Given the description of an element on the screen output the (x, y) to click on. 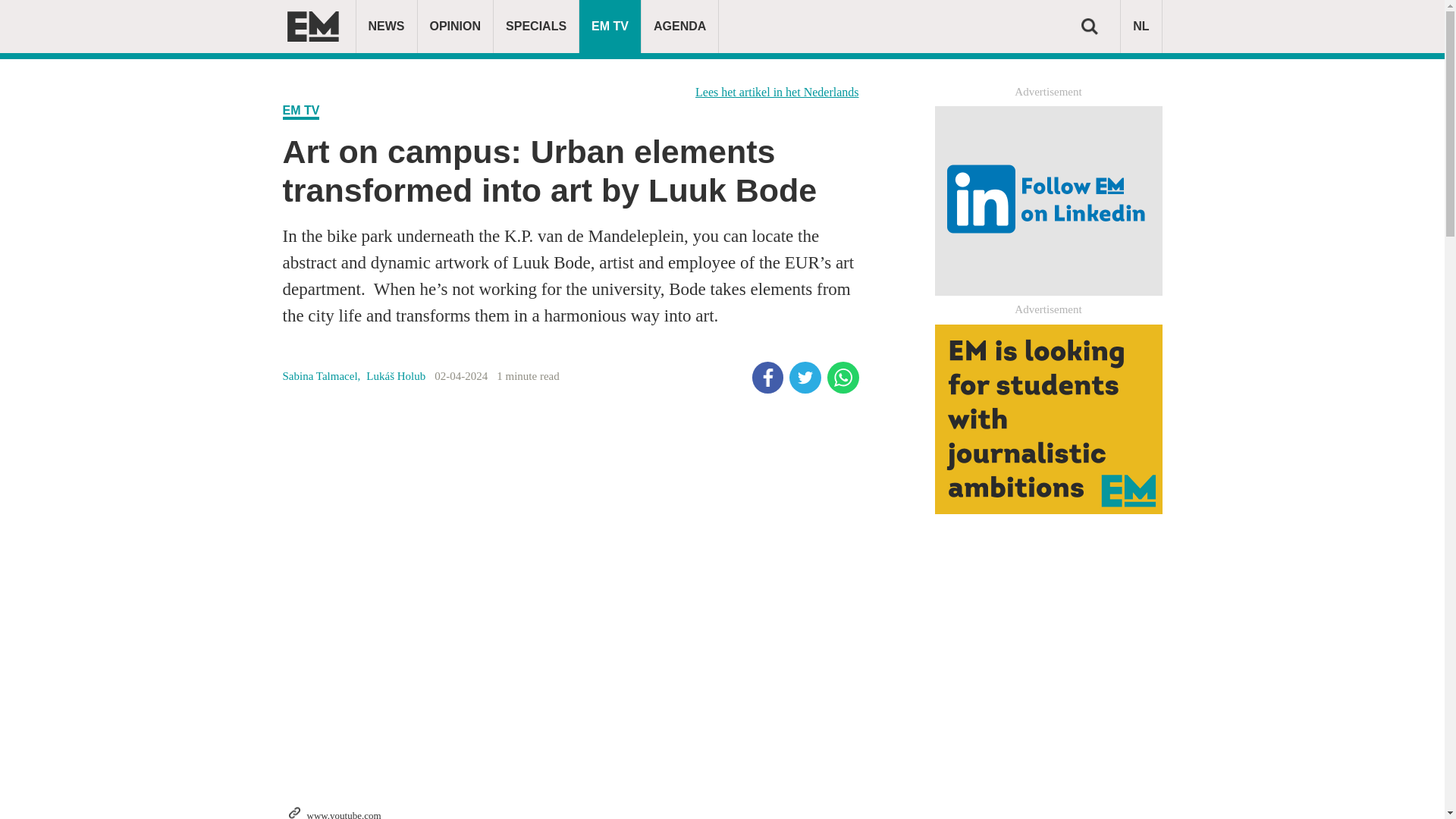
Erasmus Magazine (312, 26)
EM TV (300, 111)
Share (768, 377)
Share via WhatsApp (843, 377)
OPINION (454, 26)
Lees het artikel in het Nederlands (777, 91)
Sabina Talmacel (324, 376)
Search (1088, 26)
www.youtube.com (342, 813)
Tweet (805, 377)
